Given the description of an element on the screen output the (x, y) to click on. 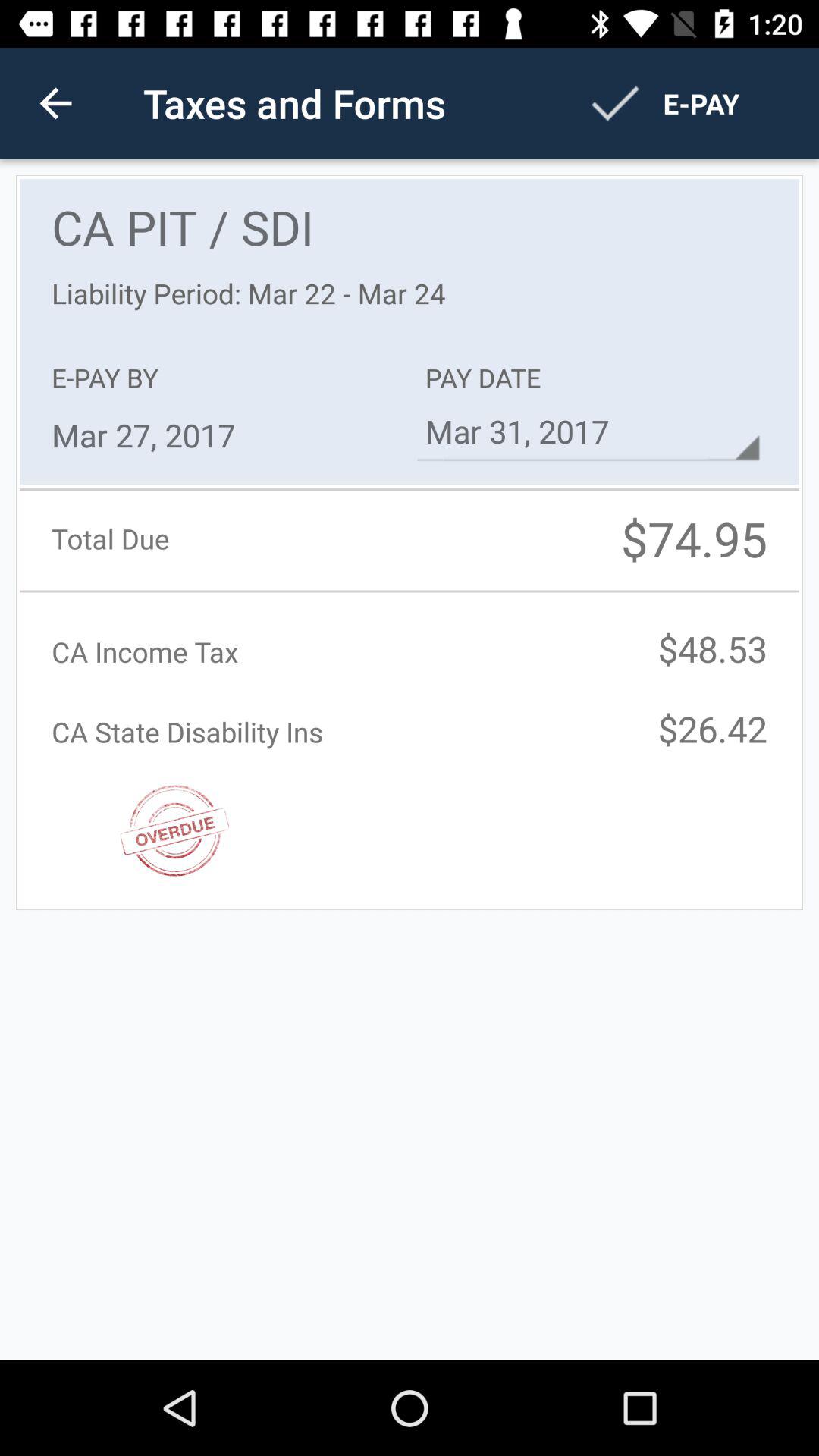
launch item above the ca pit / sdi item (55, 103)
